Given the description of an element on the screen output the (x, y) to click on. 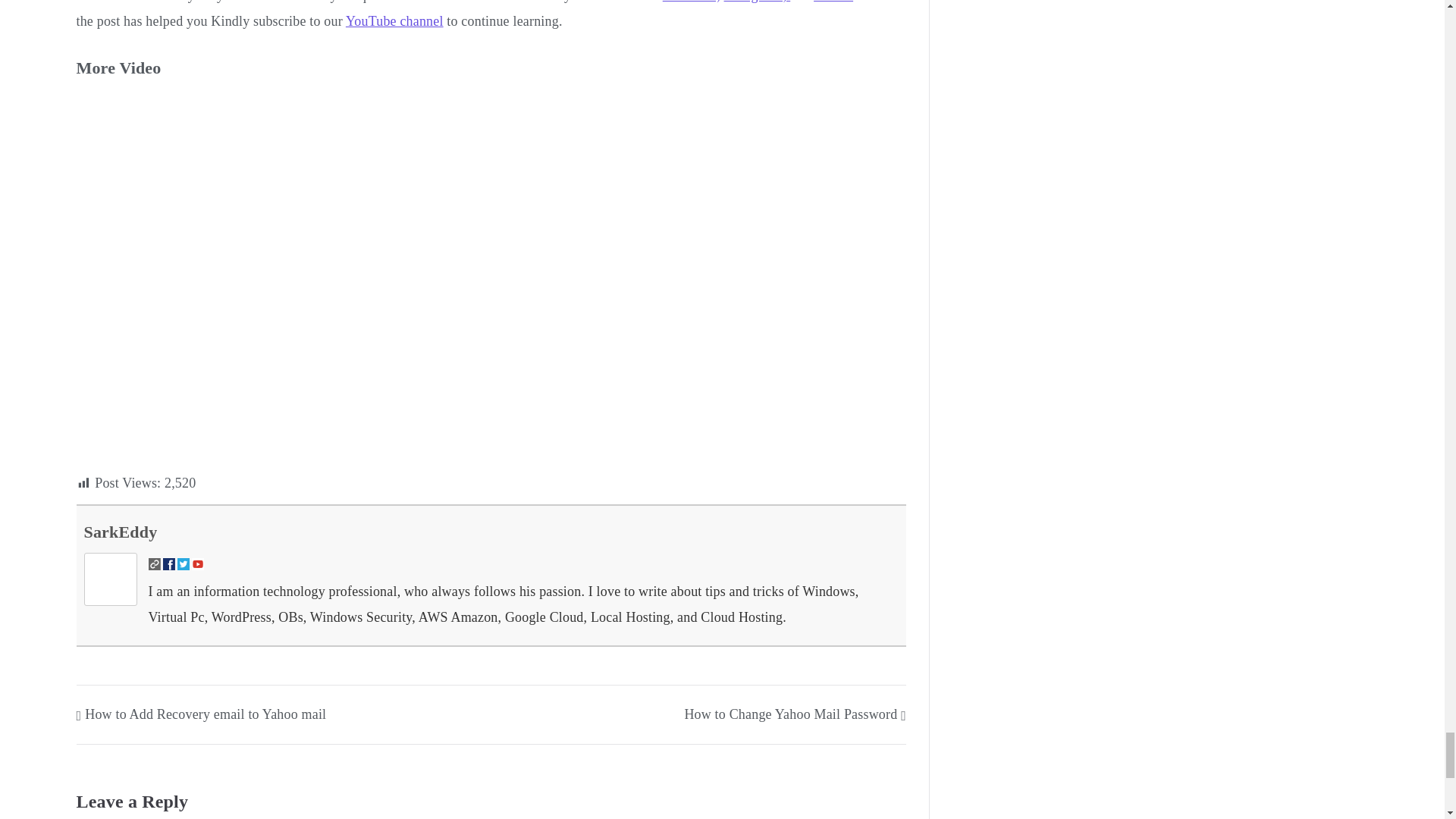
All posts by SarkEddy (119, 531)
